Given the description of an element on the screen output the (x, y) to click on. 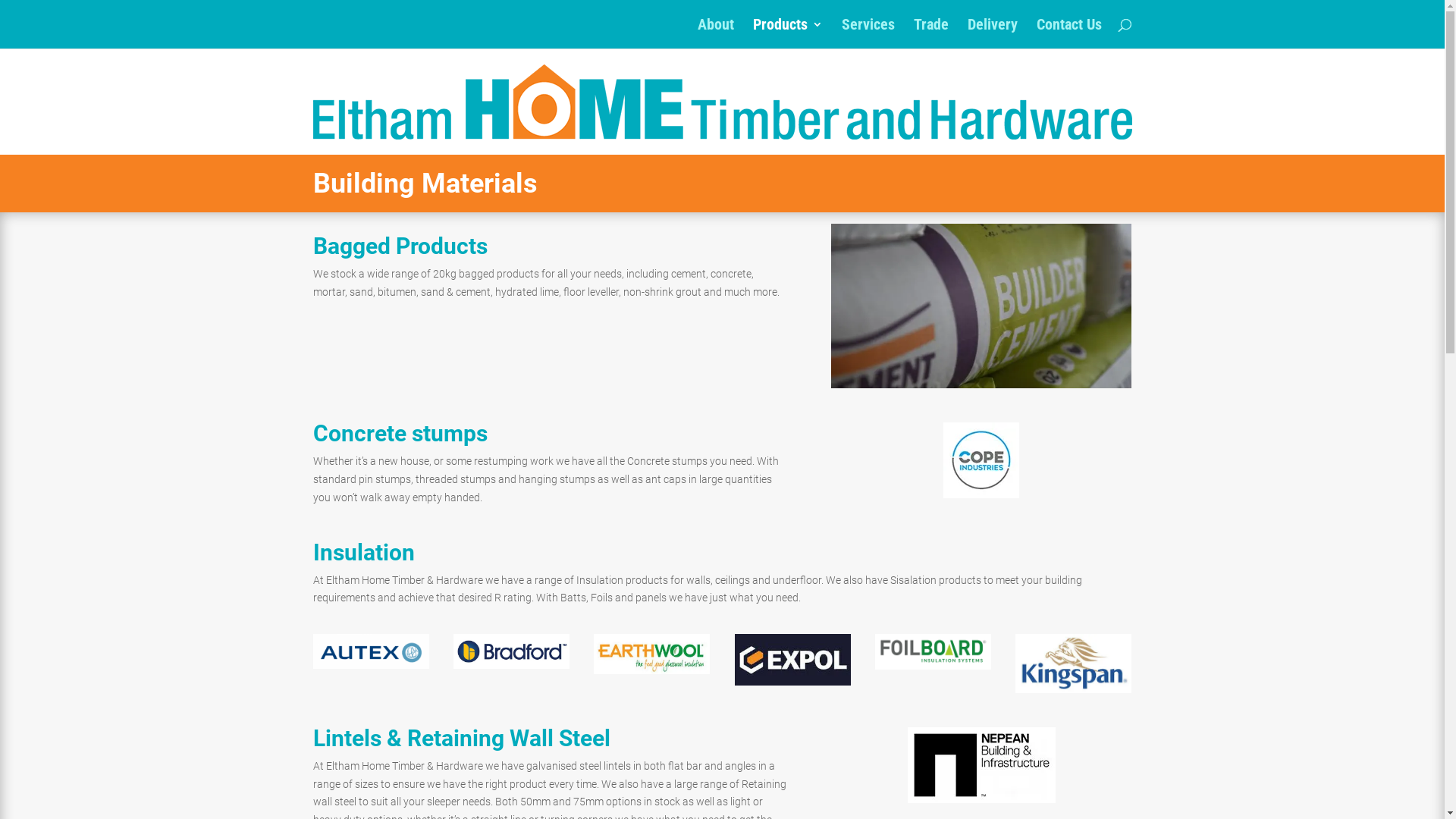
Services Element type: text (867, 33)
Trade Element type: text (930, 33)
Delivery Element type: text (992, 33)
Products Element type: text (787, 33)
About Element type: text (715, 33)
Contact Us Element type: text (1068, 33)
